Given the description of an element on the screen output the (x, y) to click on. 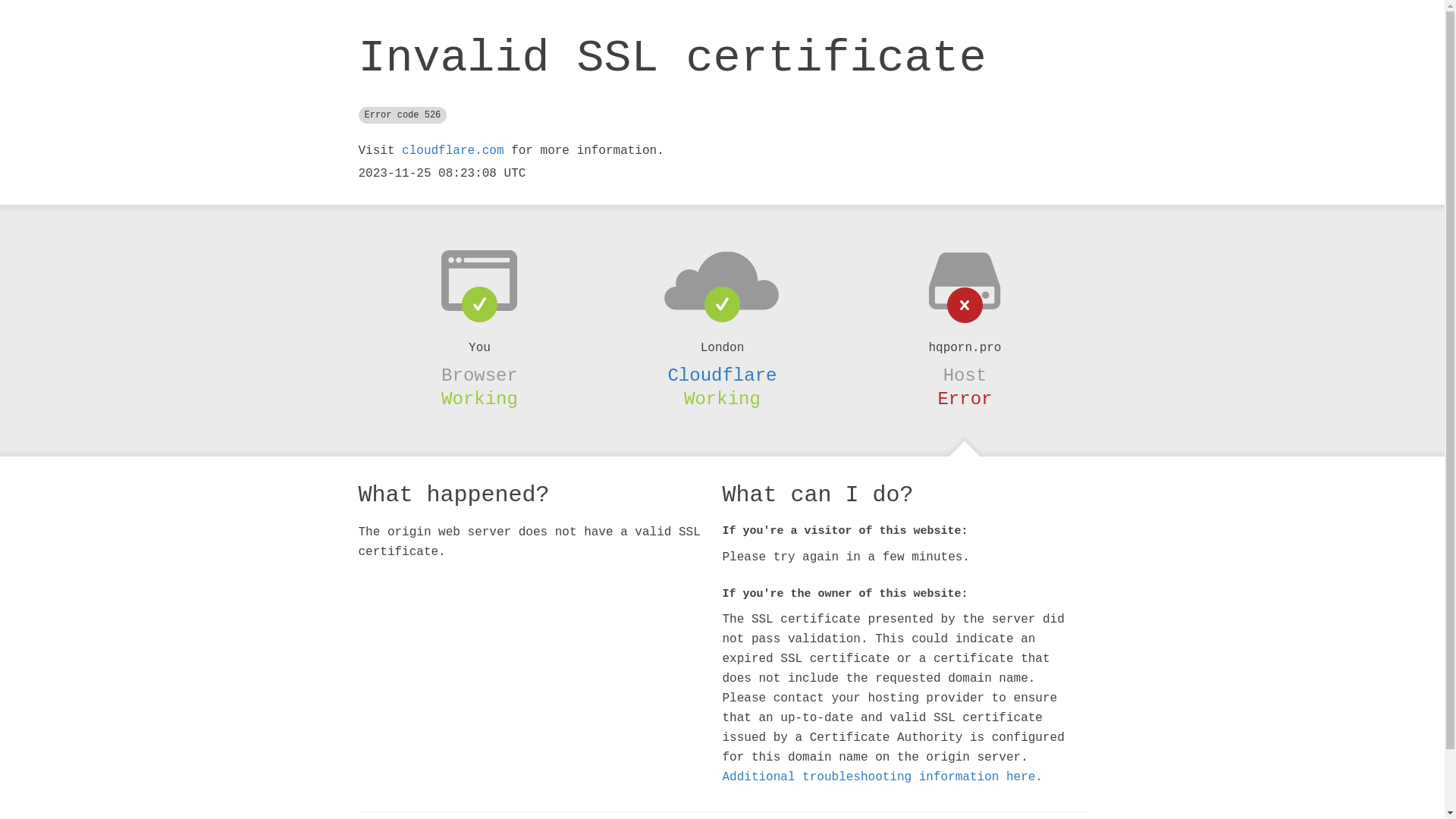
Cloudflare Element type: text (721, 375)
Additional troubleshooting information here. Element type: text (881, 777)
cloudflare.com Element type: text (452, 150)
